Given the description of an element on the screen output the (x, y) to click on. 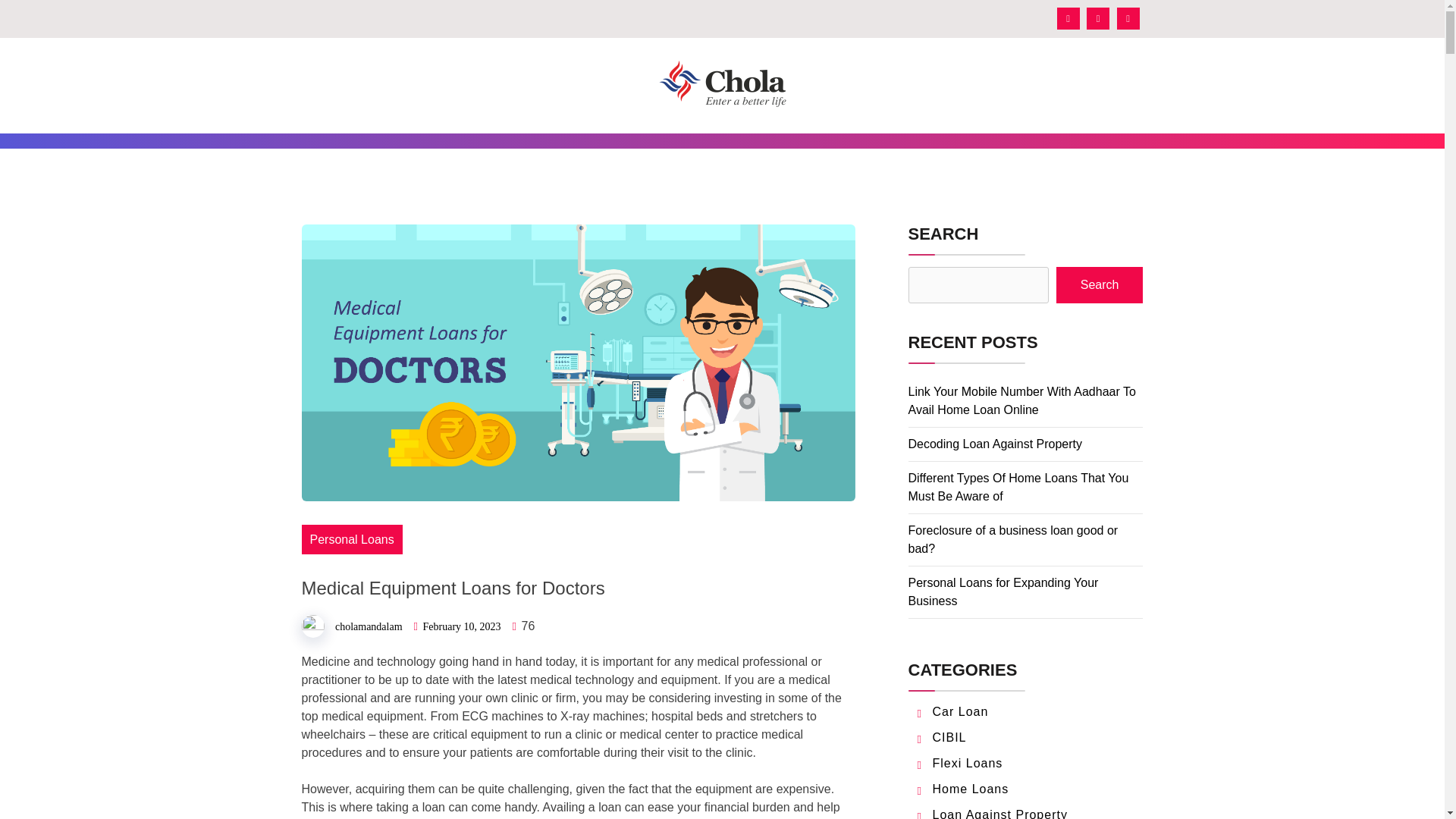
Personal Loans (352, 539)
February 10, 2023 (461, 626)
cholamandalam (368, 625)
